Given the description of an element on the screen output the (x, y) to click on. 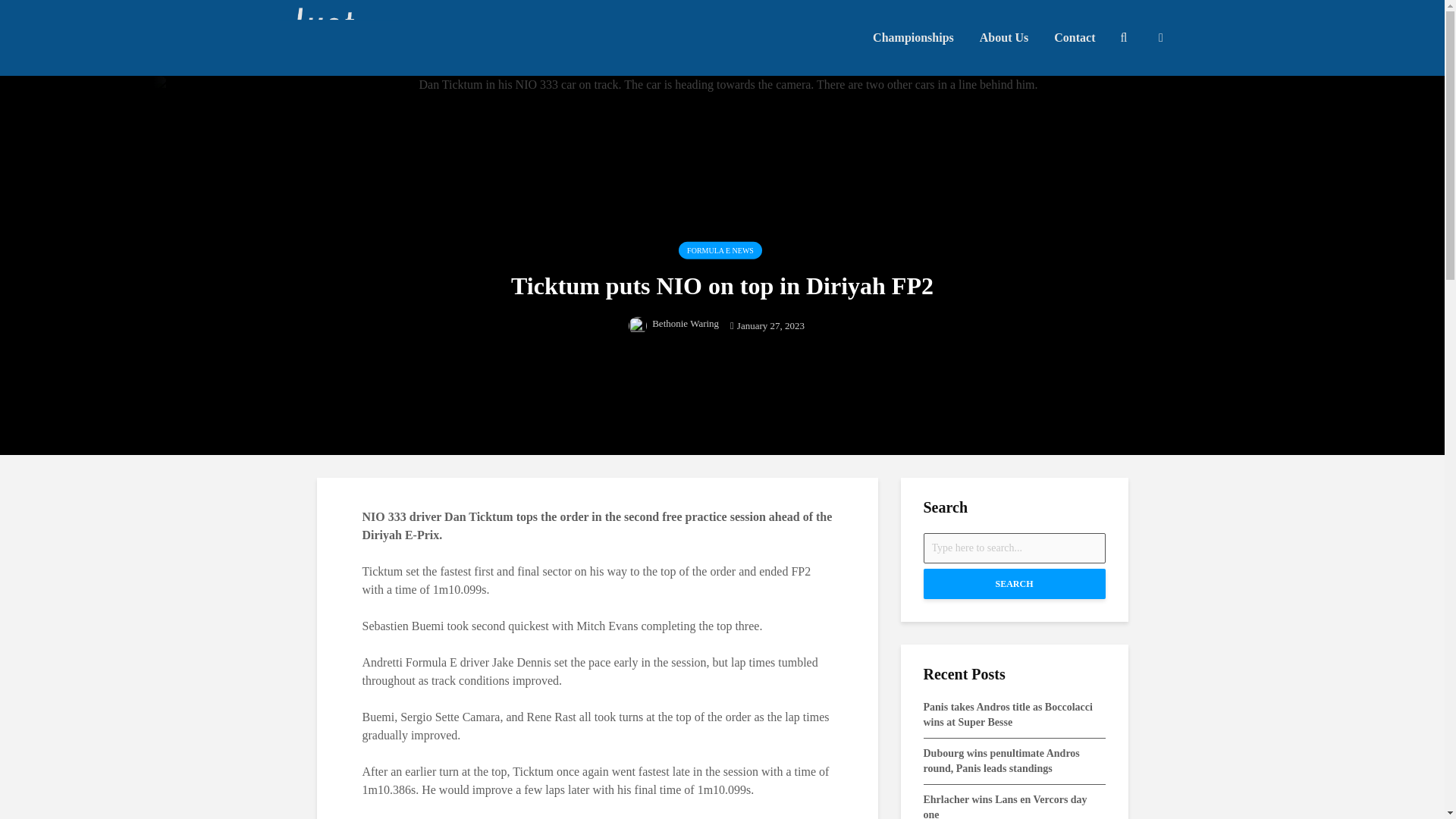
Bethonie Waring (673, 322)
About Us (1003, 37)
Contact (1074, 37)
FORMULA E NEWS (719, 250)
Championships (913, 37)
